Given the description of an element on the screen output the (x, y) to click on. 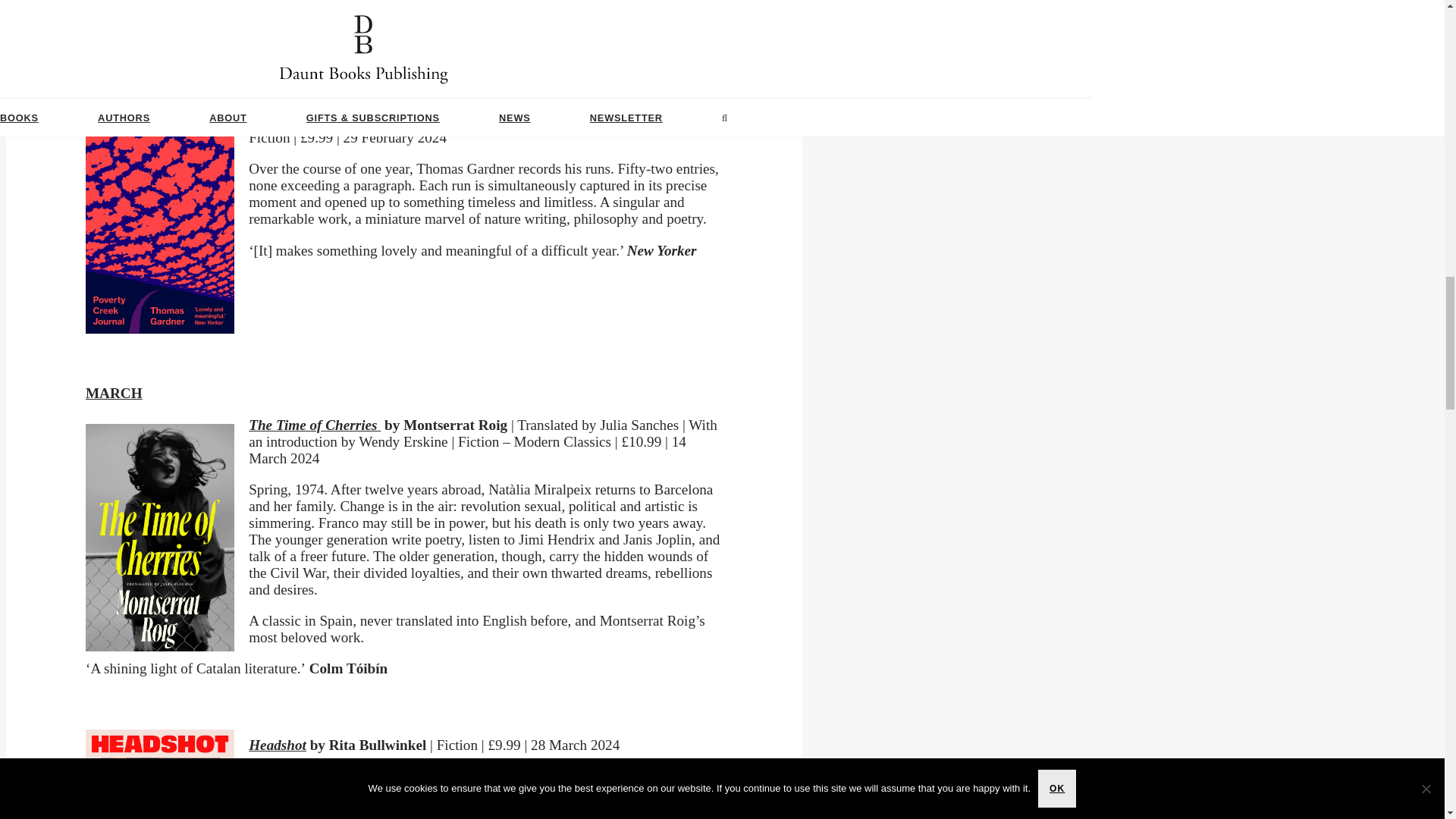
Poverty Creek Journal: On Life and Running (385, 120)
The Time of Cherries (314, 424)
Headshot (276, 744)
